Given the description of an element on the screen output the (x, y) to click on. 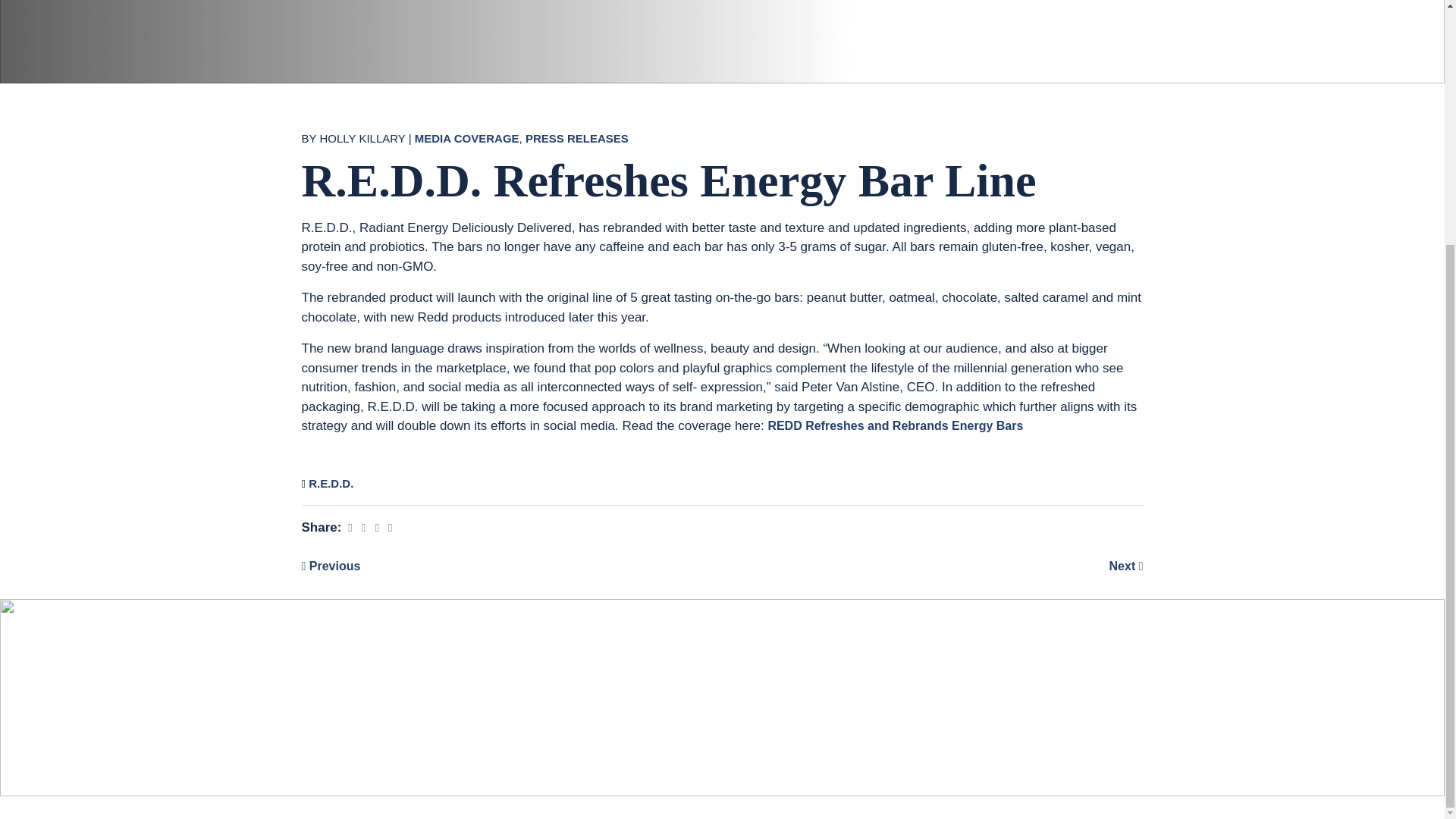
REDD Refreshes and Rebrands Energy Bars (895, 426)
 Previous (331, 566)
R.E.D.D. (330, 483)
Next  (1125, 566)
MEDIA COVERAGE (466, 138)
PRESS RELEASES (576, 138)
